Given the description of an element on the screen output the (x, y) to click on. 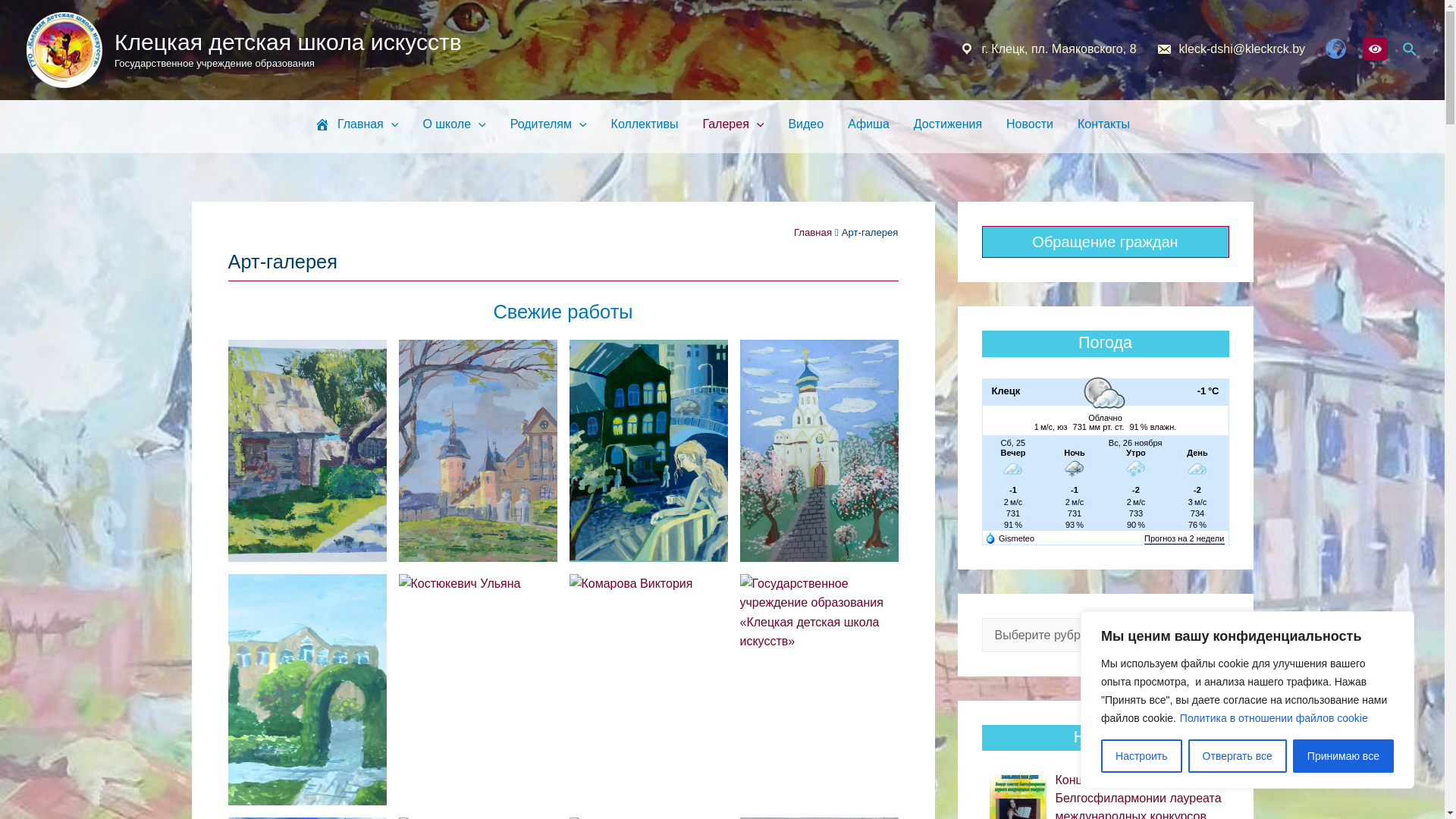
kleck-dshi@kleckrck.by Element type: text (1228, 48)
